Given the description of an element on the screen output the (x, y) to click on. 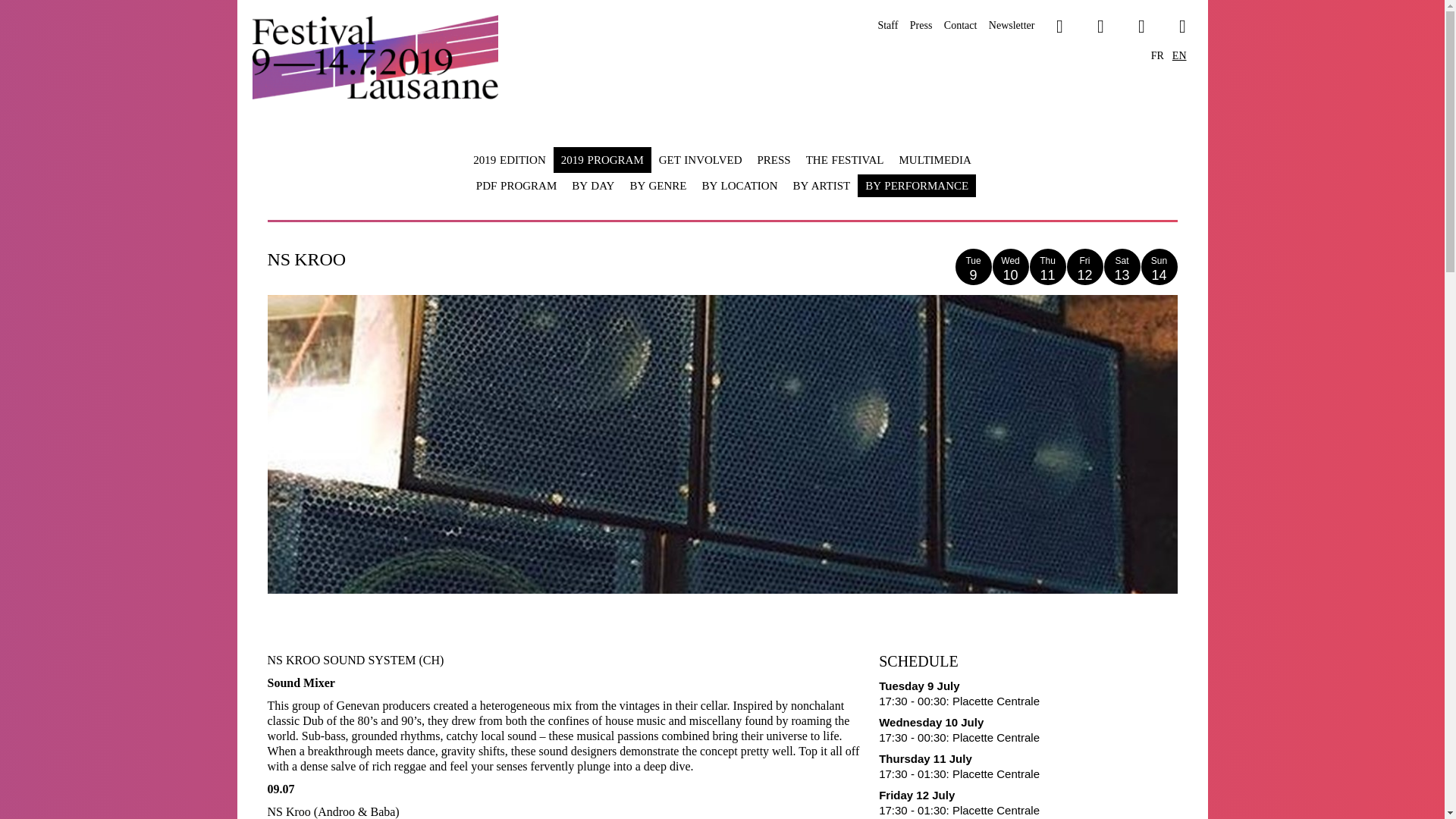
NS KROO (1009, 266)
